Given the description of an element on the screen output the (x, y) to click on. 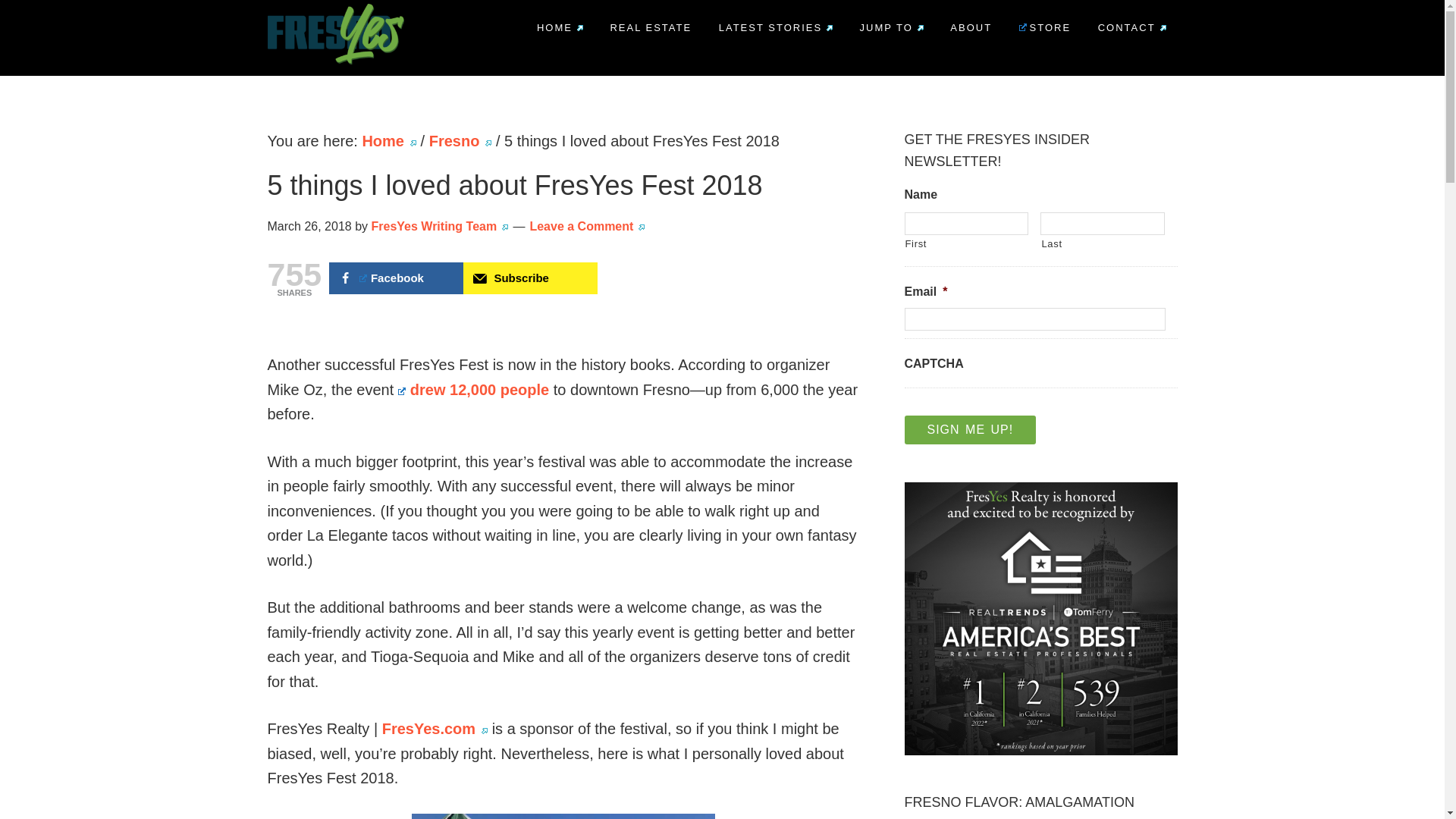
Sign Me Up! (969, 429)
FresYes! (304, 89)
JUMP TO (891, 27)
REAL ESTATE (650, 27)
LATEST STORIES (775, 27)
HOME (559, 27)
